Given the description of an element on the screen output the (x, y) to click on. 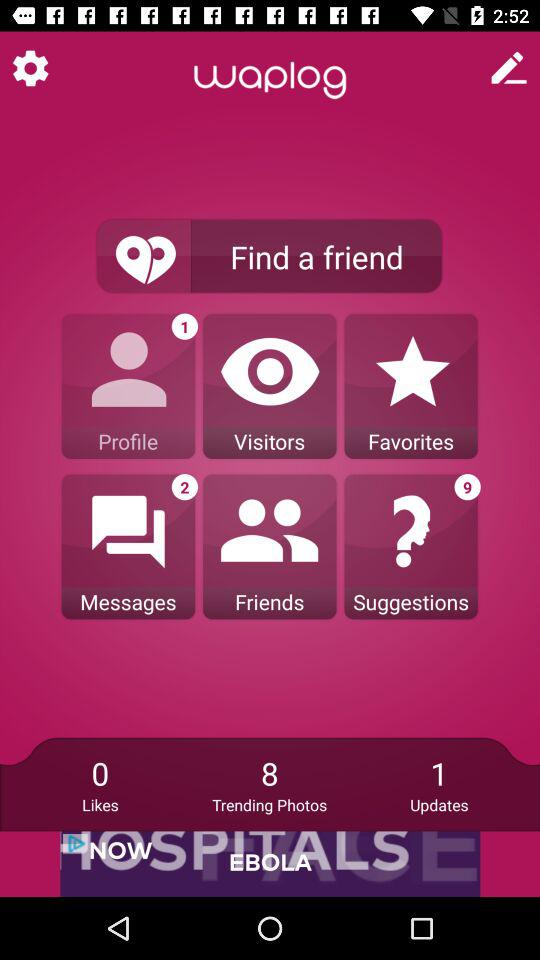
editing (509, 68)
